Given the description of an element on the screen output the (x, y) to click on. 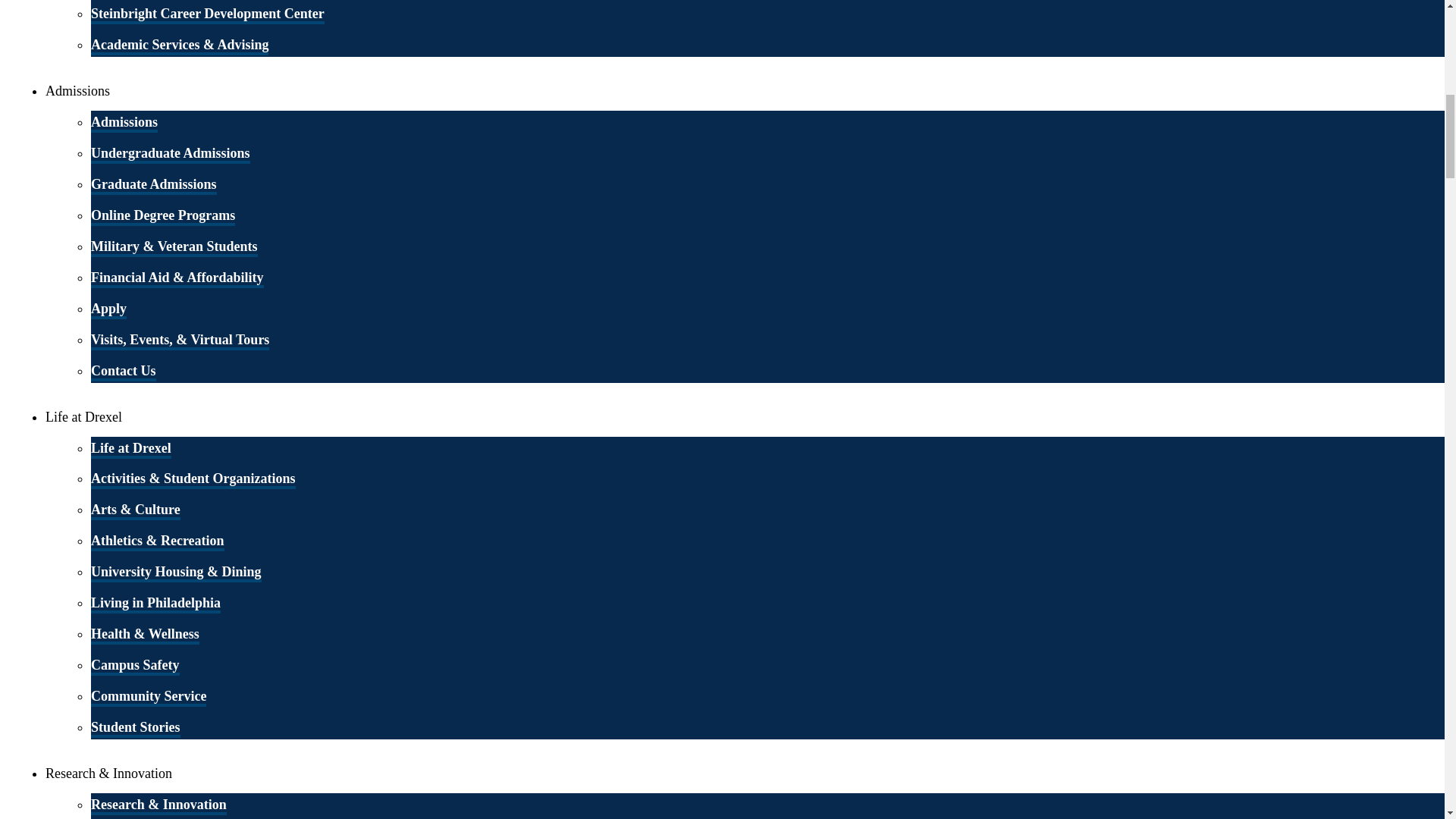
Life at Drexel (130, 448)
Online Degree Programs (162, 217)
Campus Safety (134, 666)
Admissions (123, 123)
Graduate Admissions (153, 185)
Apply (108, 310)
Living in Philadelphia (155, 604)
Contact Us (122, 372)
Steinbright Career Development Center (207, 14)
Undergraduate Admissions (170, 154)
